Given the description of an element on the screen output the (x, y) to click on. 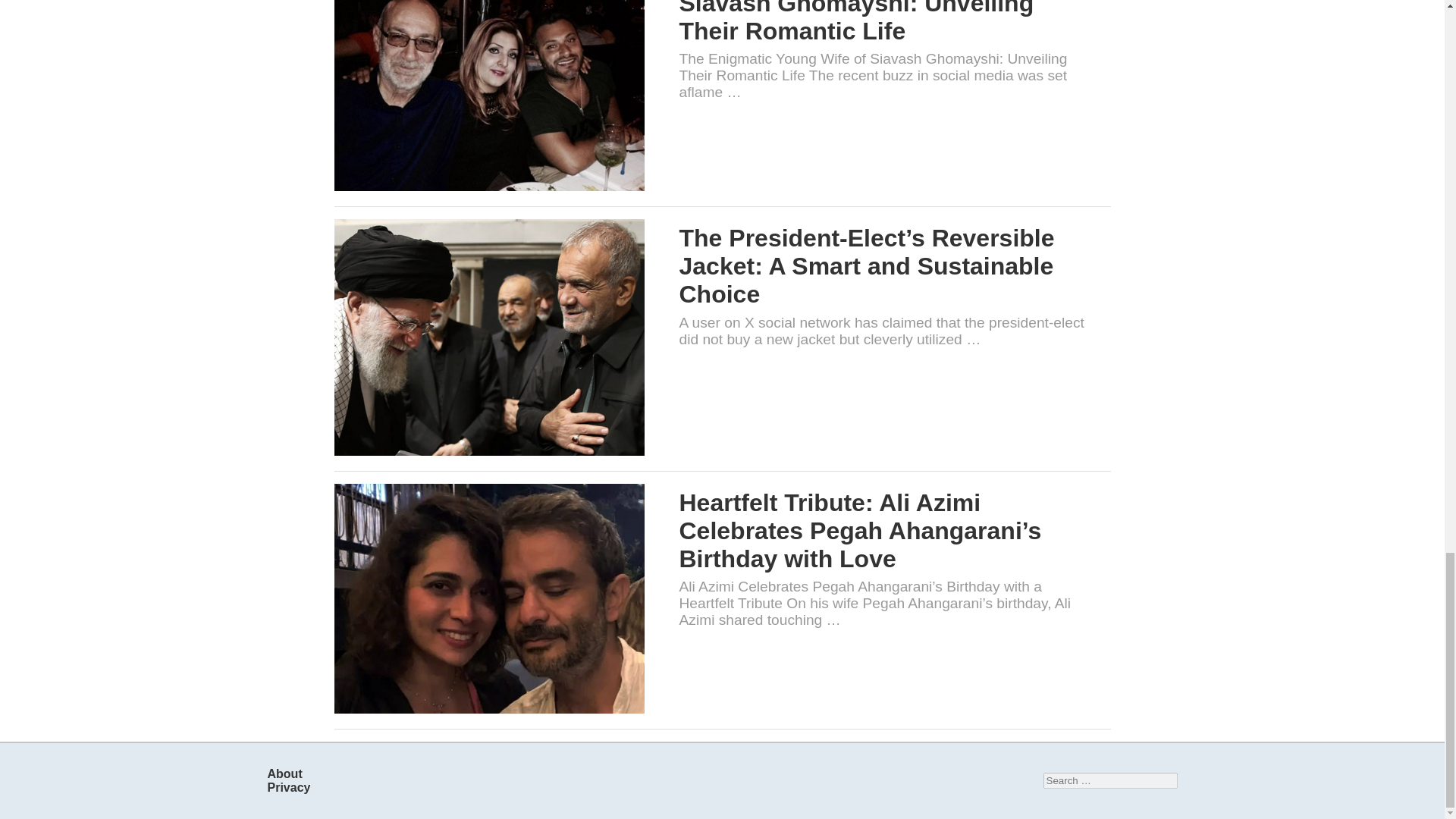
Privacy (288, 787)
About (283, 773)
